Given the description of an element on the screen output the (x, y) to click on. 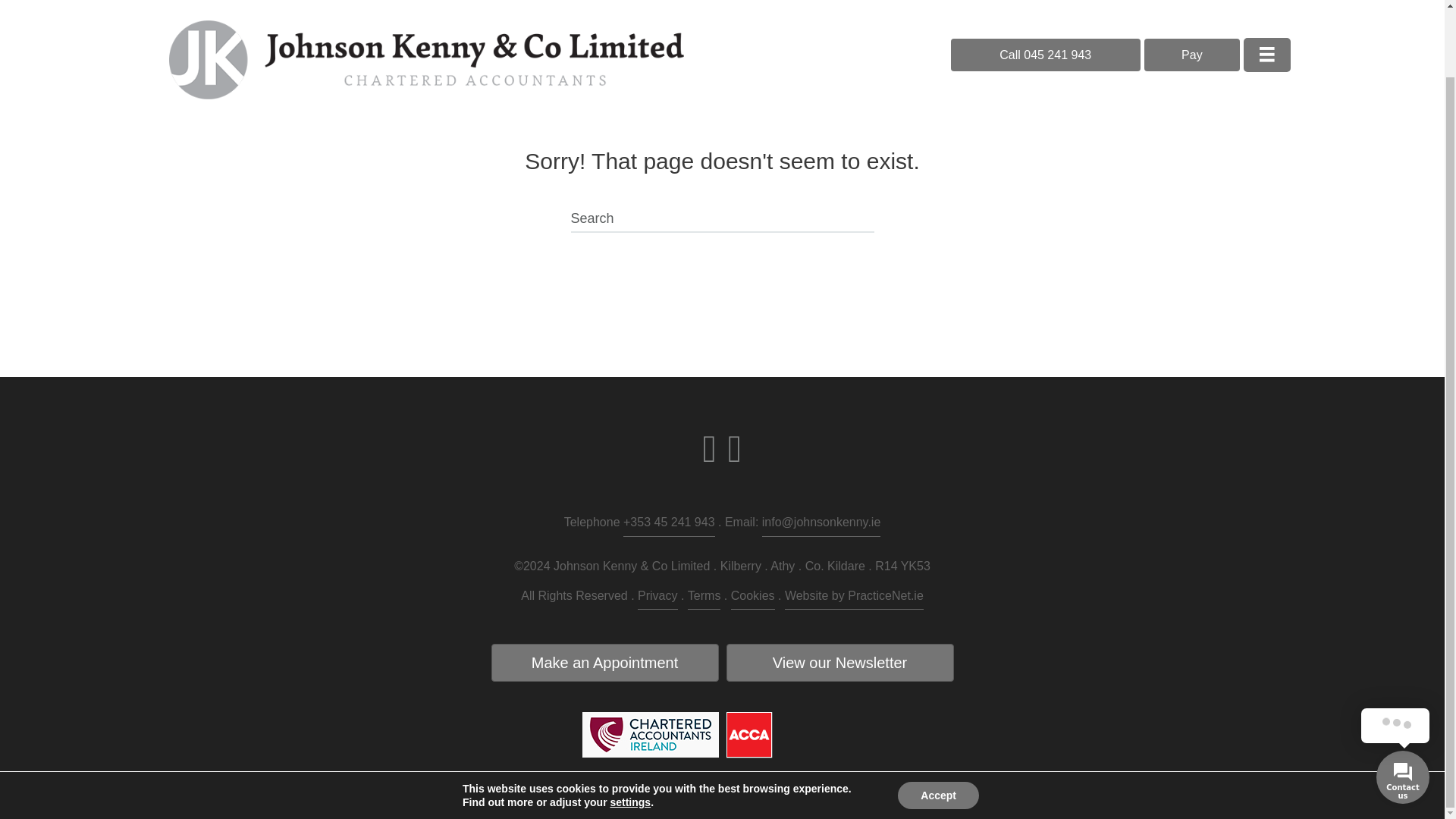
Type and press Enter to search. (721, 219)
Cookies (752, 597)
Make an Appointment (605, 662)
chartered-accountants-ireland-logo-min (650, 734)
Accept (938, 720)
ACCA LOGO RED (749, 734)
View our Newsletter (839, 662)
Johnson-Kenny-and-Co-logo (426, 12)
Search (721, 219)
Terms (703, 597)
